Given the description of an element on the screen output the (x, y) to click on. 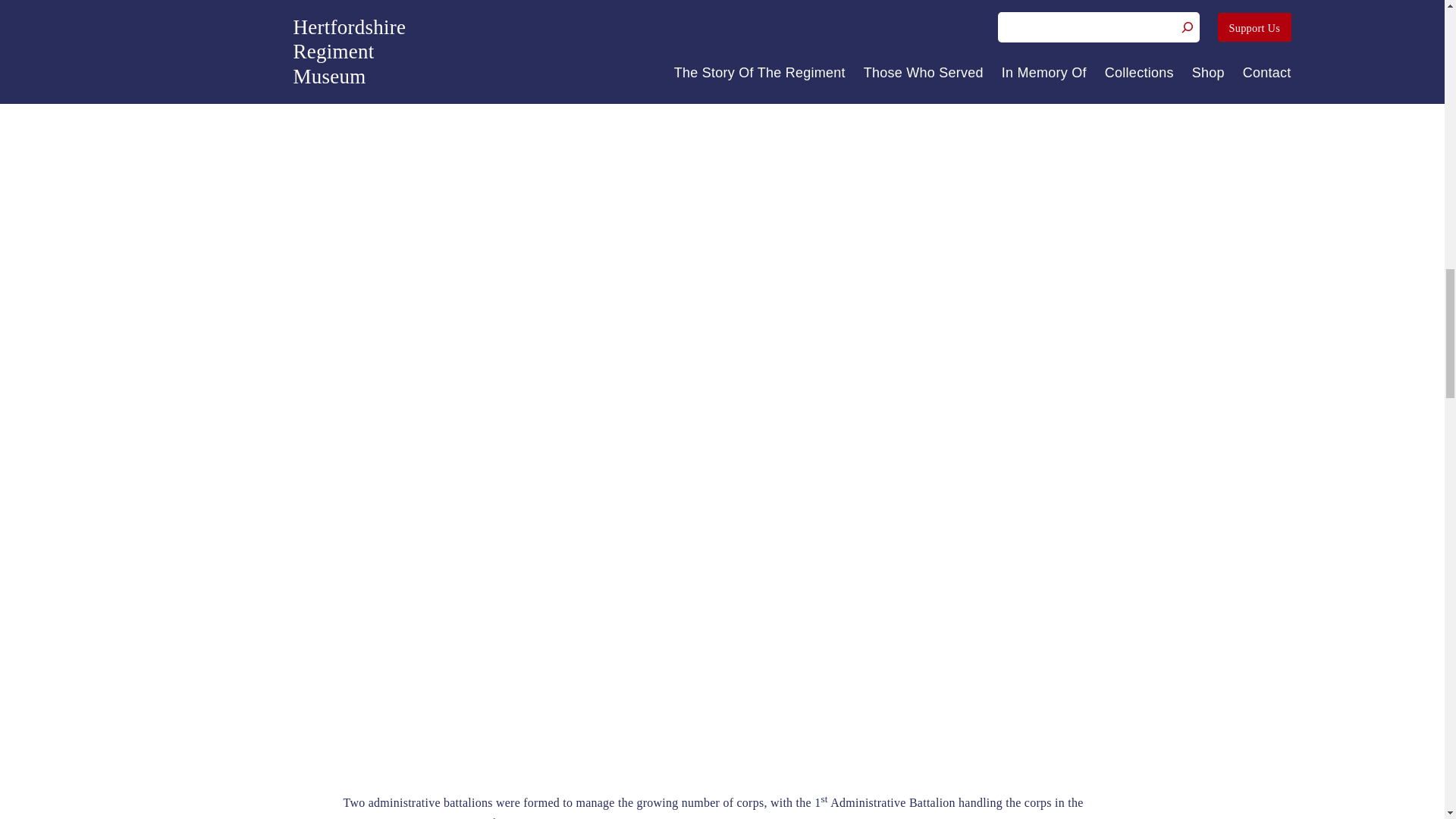
Attack Drill instructions, circa 1880-1900. (915, 111)
